Given the description of an element on the screen output the (x, y) to click on. 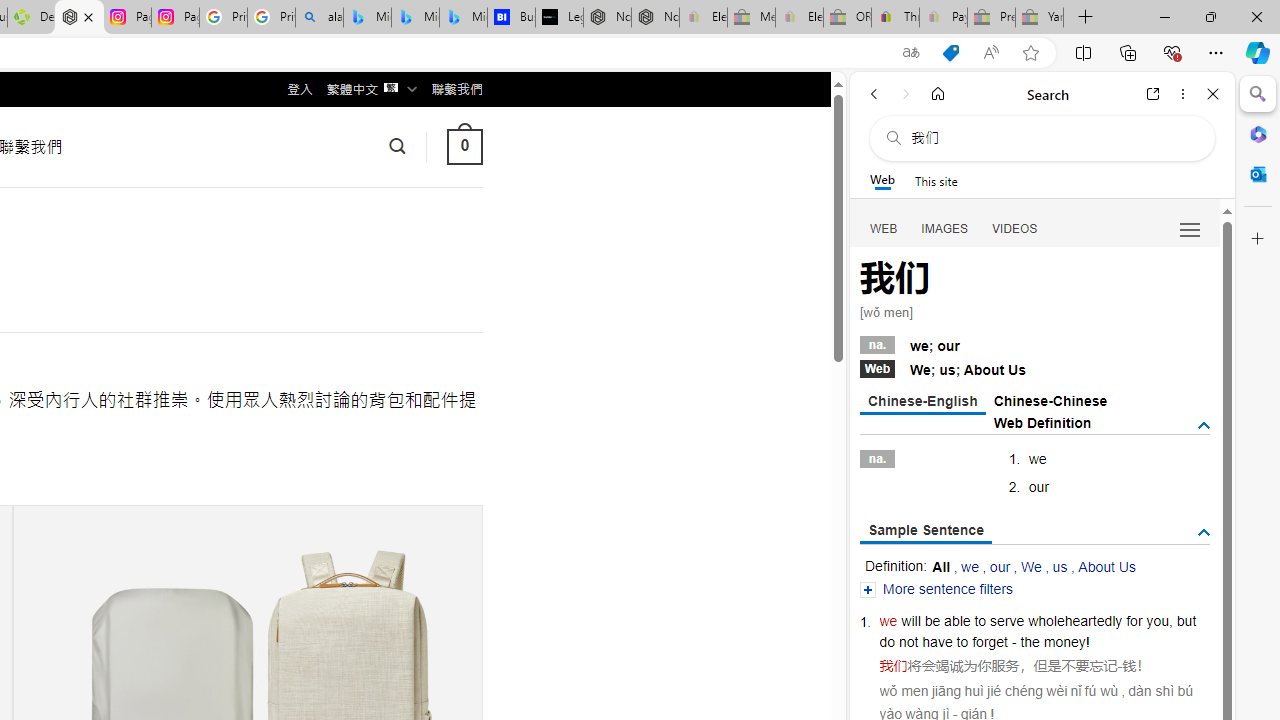
  0   (464, 146)
we (888, 620)
Press Room - eBay Inc. - Sleeping (991, 17)
